Given the description of an element on the screen output the (x, y) to click on. 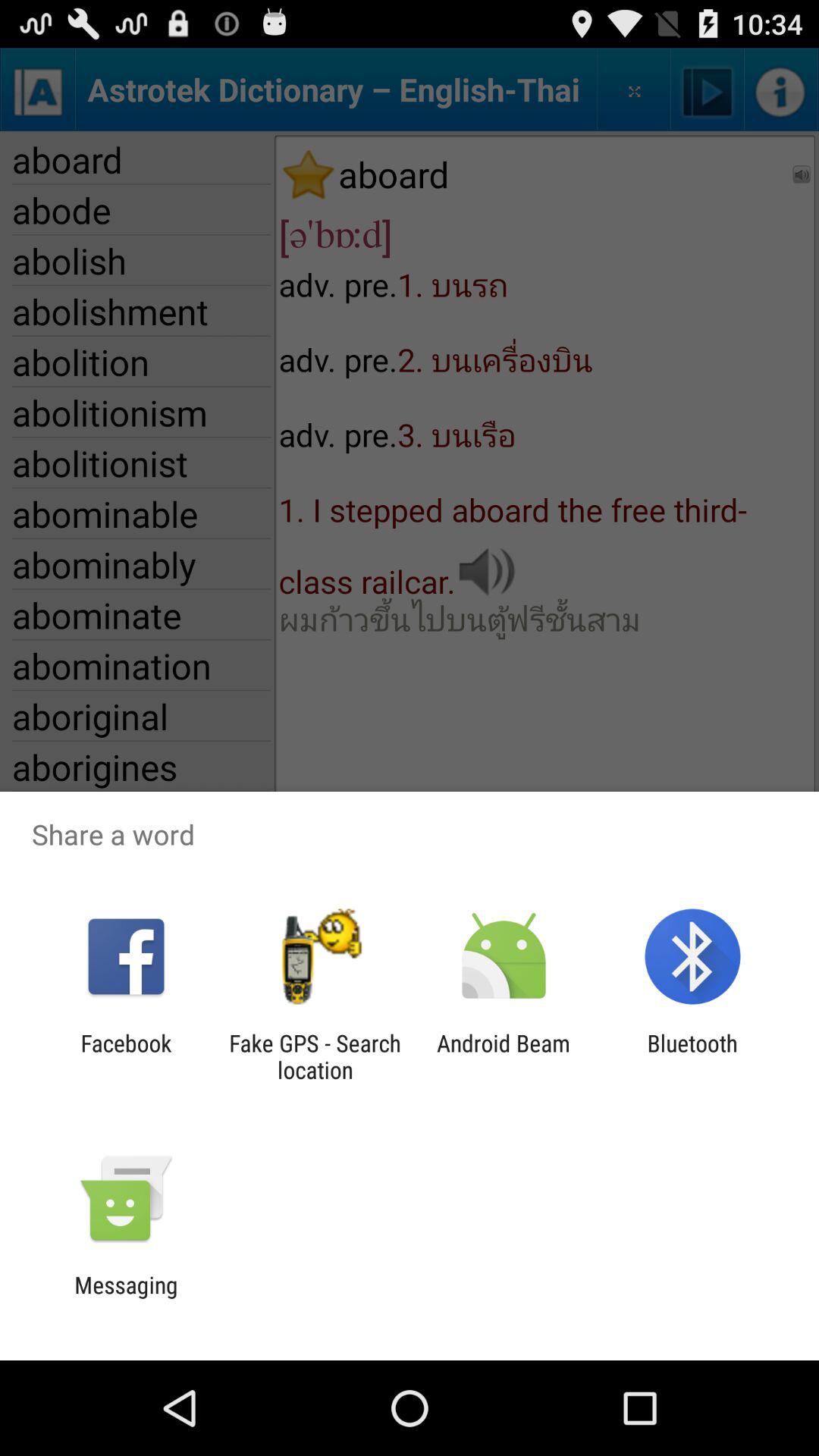
jump until the android beam (503, 1056)
